Given the description of an element on the screen output the (x, y) to click on. 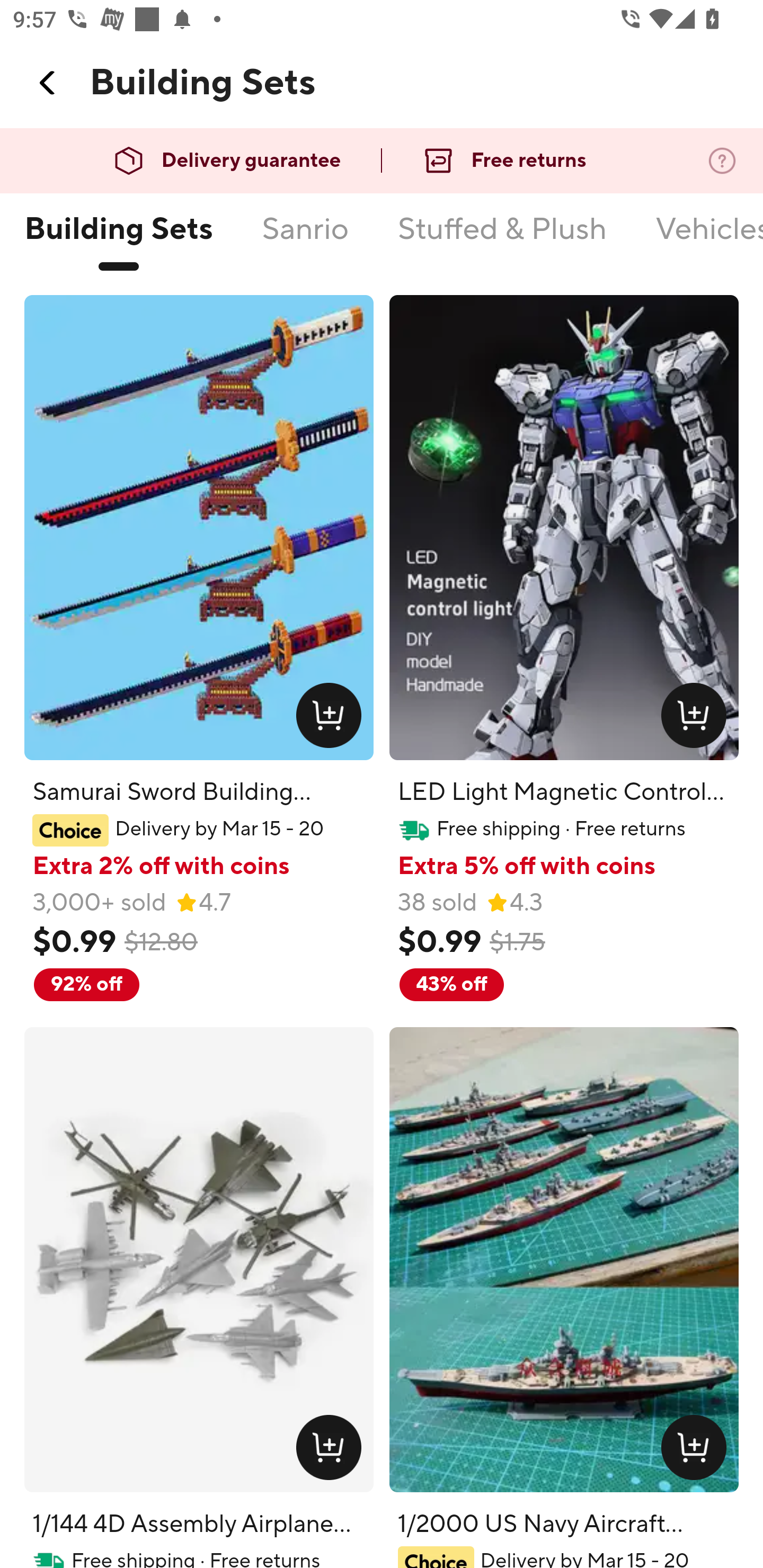
 (48, 82)
Building Sets (117, 239)
Sanrio (304, 239)
Stuffed & Plush (502, 239)
128x128.png_ (331, 719)
128x128.png_ (697, 719)
128x128.png_ (331, 1450)
128x128.png_ (697, 1450)
